Given the description of an element on the screen output the (x, y) to click on. 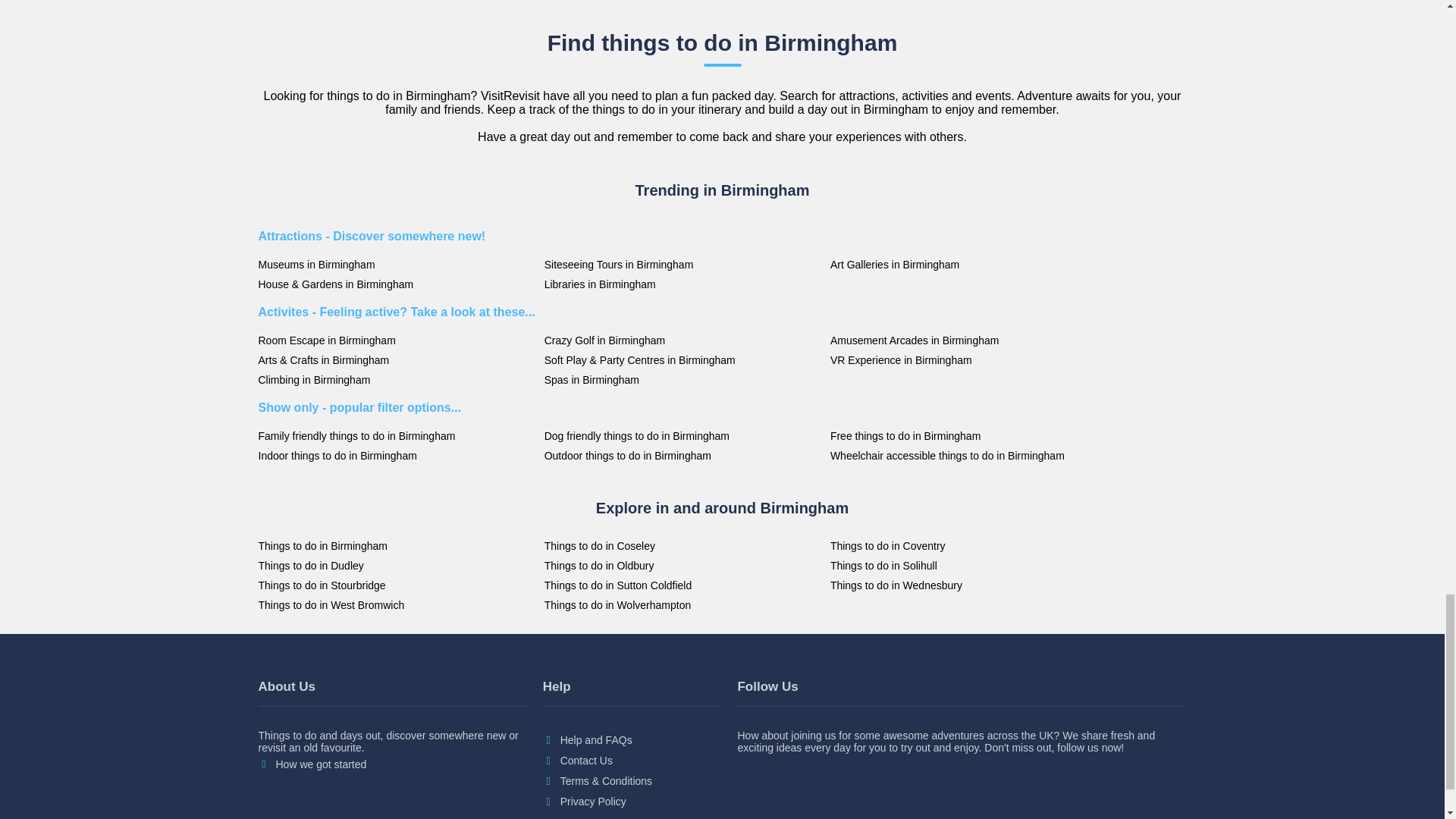
VR Experience in Birmingham (968, 359)
Siteseeing Tours in Birmingham (683, 264)
Museums in Birmingham (396, 264)
Crazy Golf in Birmingham (683, 340)
Room Escape in Birmingham (396, 340)
Family friendly things to do in Birmingham (396, 435)
Art Galleries in Birmingham (968, 264)
Amusement Arcades in Birmingham (968, 340)
Libraries in Birmingham (683, 284)
Spas in Birmingham (683, 379)
Climbing in Birmingham (396, 379)
